Given the description of an element on the screen output the (x, y) to click on. 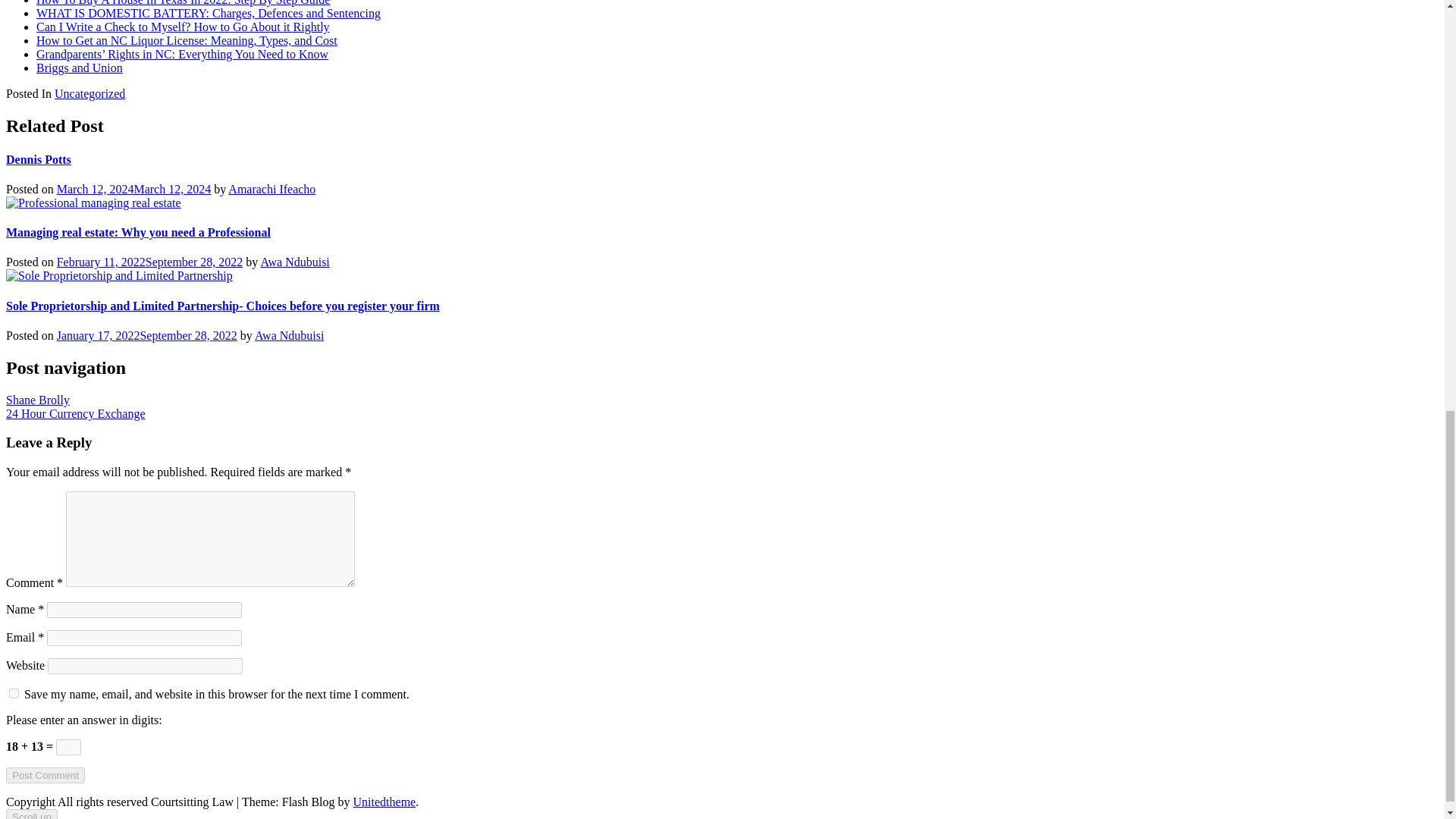
Amarachi Ifeacho (271, 188)
Can I Write a Check to Myself? How to Go About it Rightly (183, 26)
Briggs and Union (79, 67)
Awa Ndubuisi (294, 261)
February 11, 2022September 28, 2022 (149, 261)
March 12, 2024March 12, 2024 (133, 188)
WHAT IS DOMESTIC BATTERY: Charges, Defences and Sentencing (208, 12)
How To Buy A House In Texas In 2022: Step By Step Guide (183, 2)
yes (13, 693)
Post Comment (44, 774)
Awa Ndubuisi (288, 335)
How to Get an NC Liquor License: Meaning, Types, and Cost (186, 40)
Managing real estate: Why you need a Professional (137, 232)
Dennis Potts (38, 159)
